Given the description of an element on the screen output the (x, y) to click on. 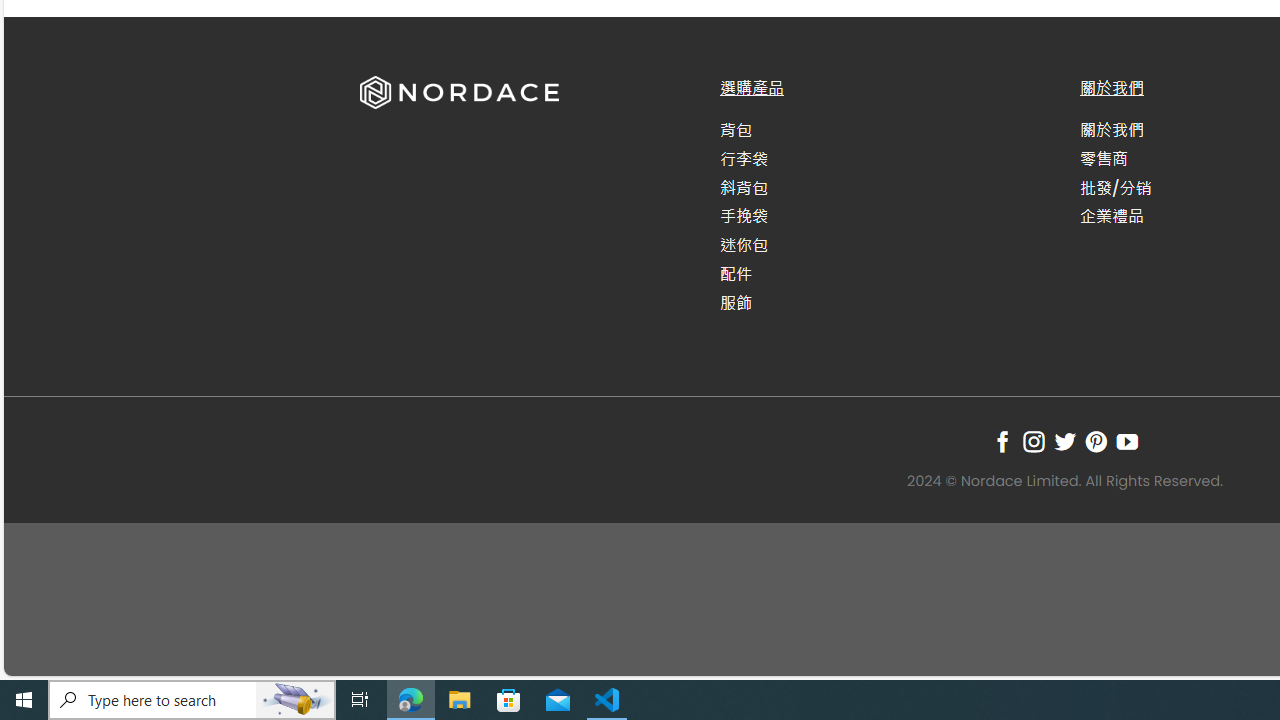
Follow on Pinterest (1096, 441)
